Given the description of an element on the screen output the (x, y) to click on. 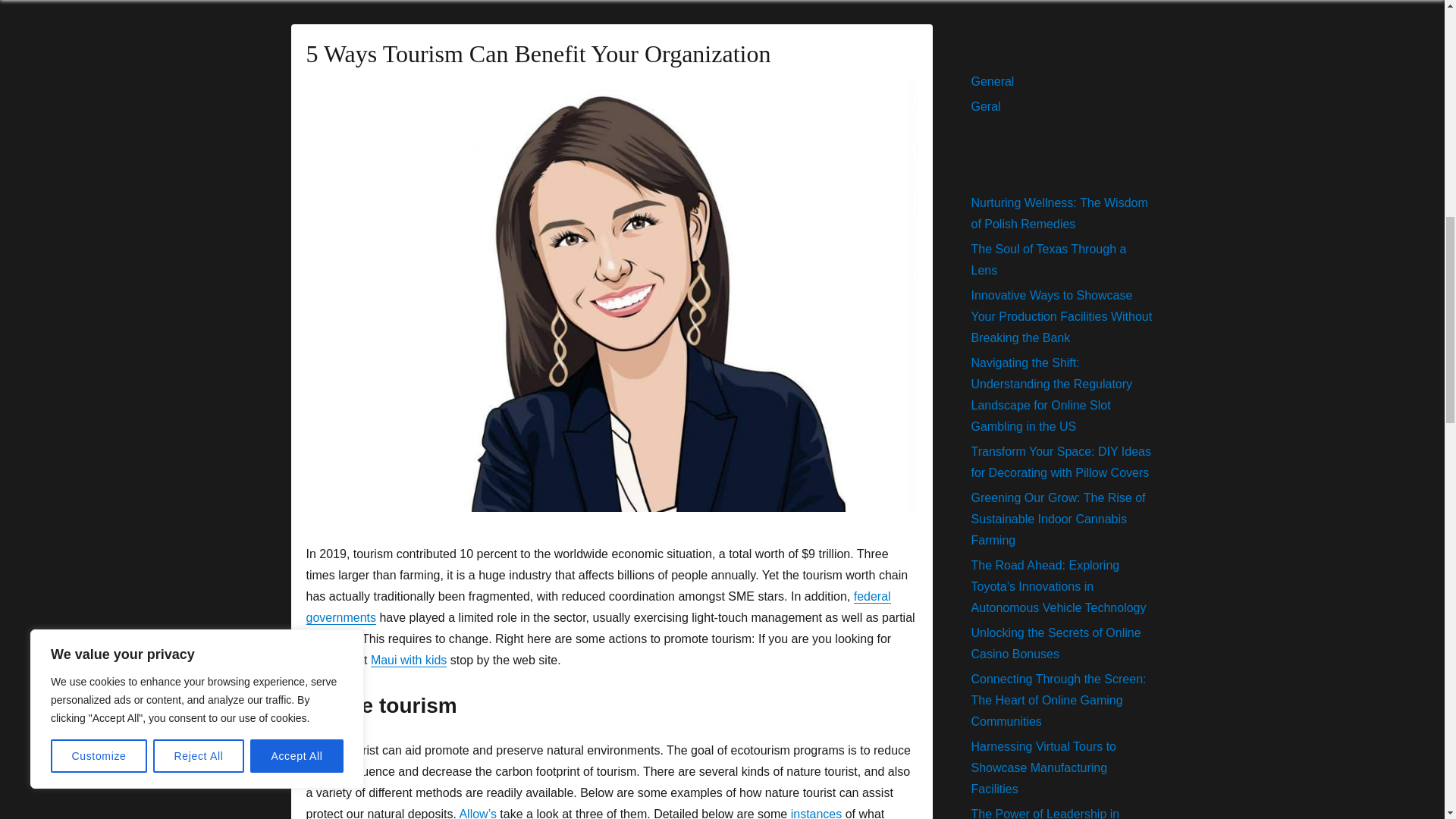
instances (816, 813)
Maui with kids (408, 659)
Geral (985, 106)
federal governments (598, 606)
The Soul of Texas Through a Lens (1048, 259)
General (992, 81)
Nurturing Wellness: The Wisdom of Polish Remedies (1059, 213)
